Given the description of an element on the screen output the (x, y) to click on. 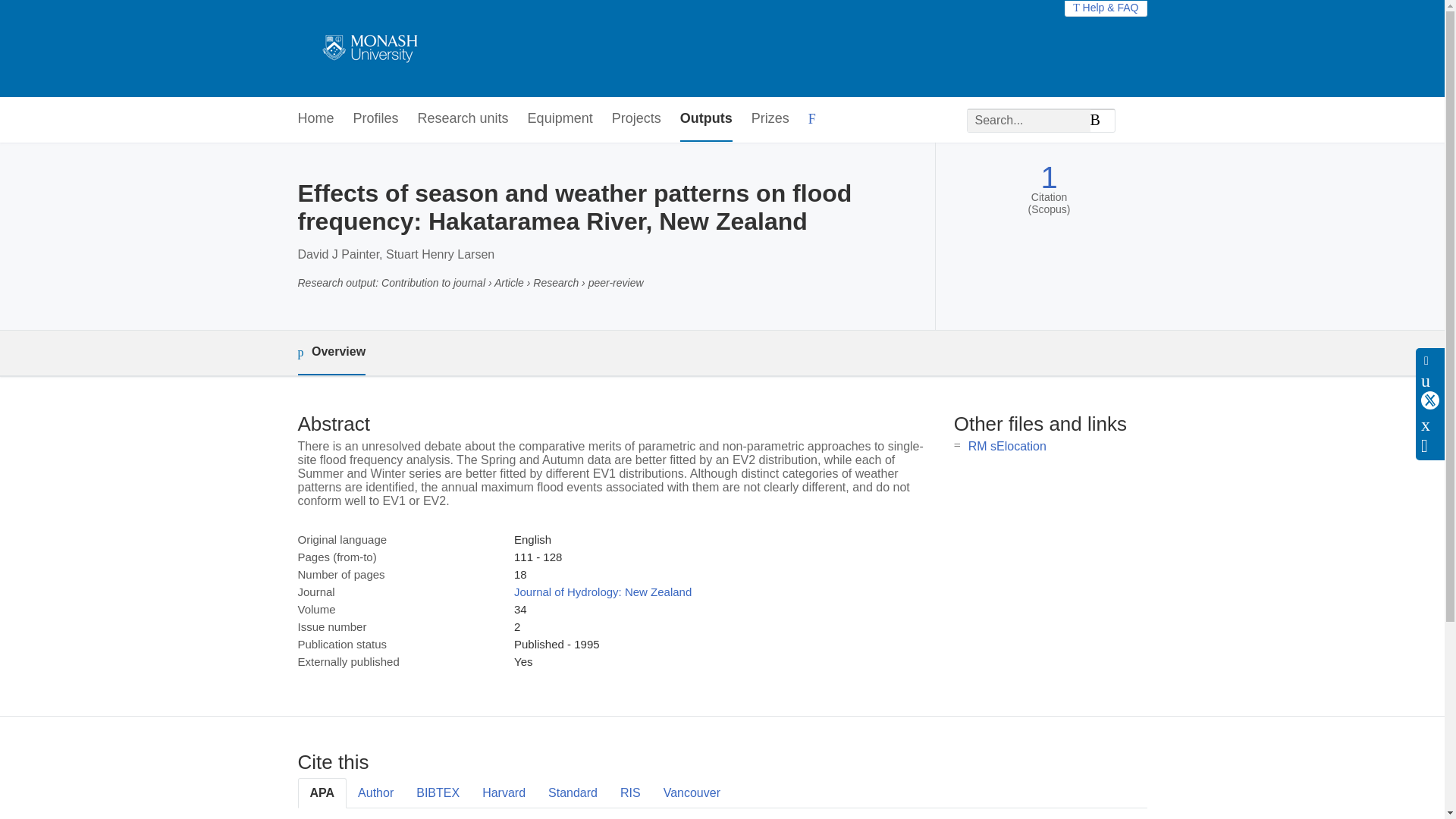
Outputs (705, 119)
Equipment (559, 119)
RM sElocation (1007, 445)
Profiles (375, 119)
Journal of Hydrology: New Zealand (602, 591)
Projects (636, 119)
Overview (331, 352)
Monash University Home (366, 48)
Research units (462, 119)
